Given the description of an element on the screen output the (x, y) to click on. 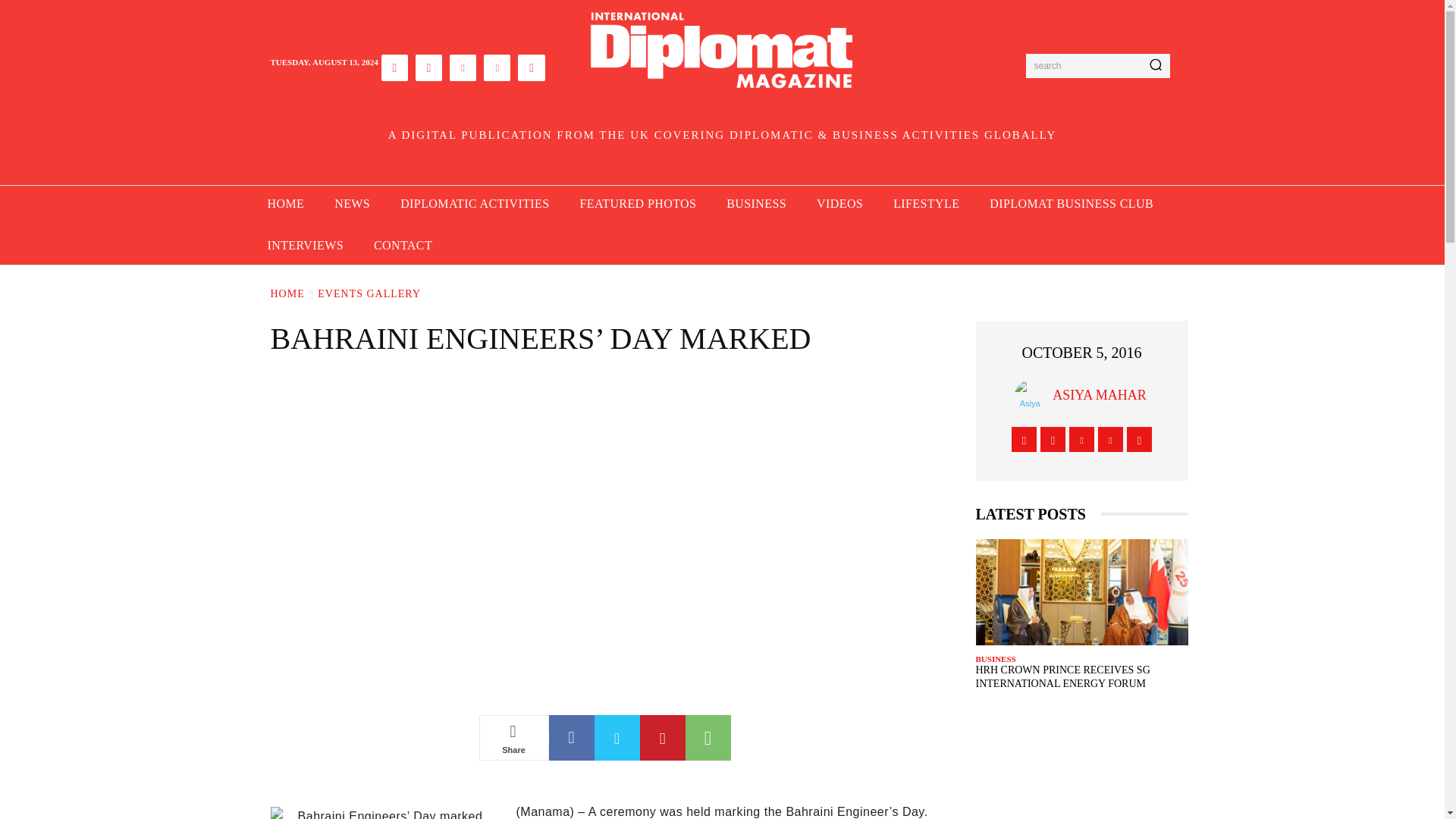
BUSINESS (756, 204)
VIDEOS (839, 204)
DIPLOMATIC ACTIVITIES (474, 204)
View all posts in Events Gallery (368, 294)
Pinterest (662, 737)
LIFESTYLE (925, 204)
CONTACT (402, 245)
DIPLOMAT BUSINESS CLUB (1071, 204)
Youtube (531, 67)
Instagram (428, 67)
